Given the description of an element on the screen output the (x, y) to click on. 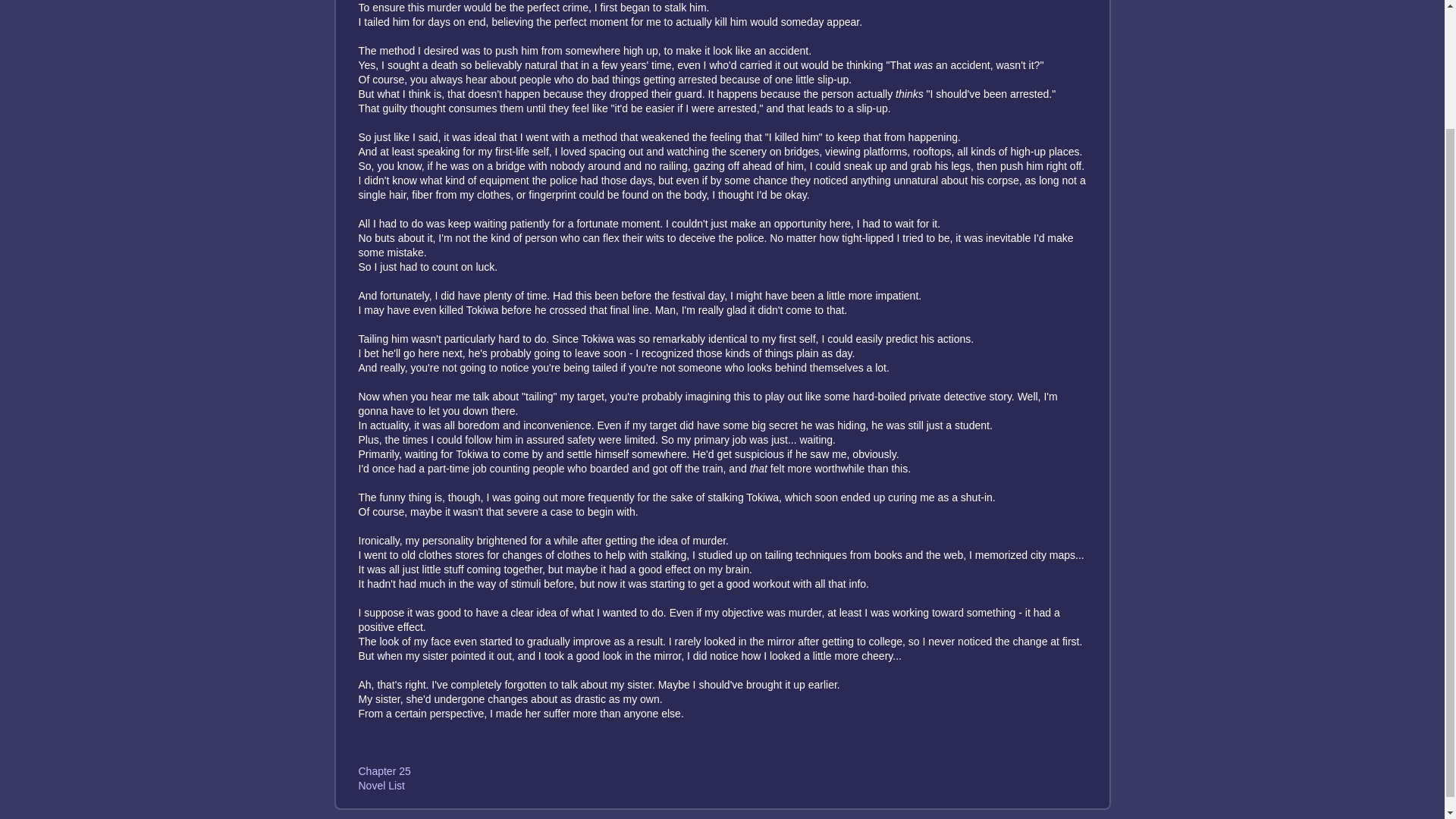
Novel List (381, 785)
Chapter 25 (384, 770)
